Given the description of an element on the screen output the (x, y) to click on. 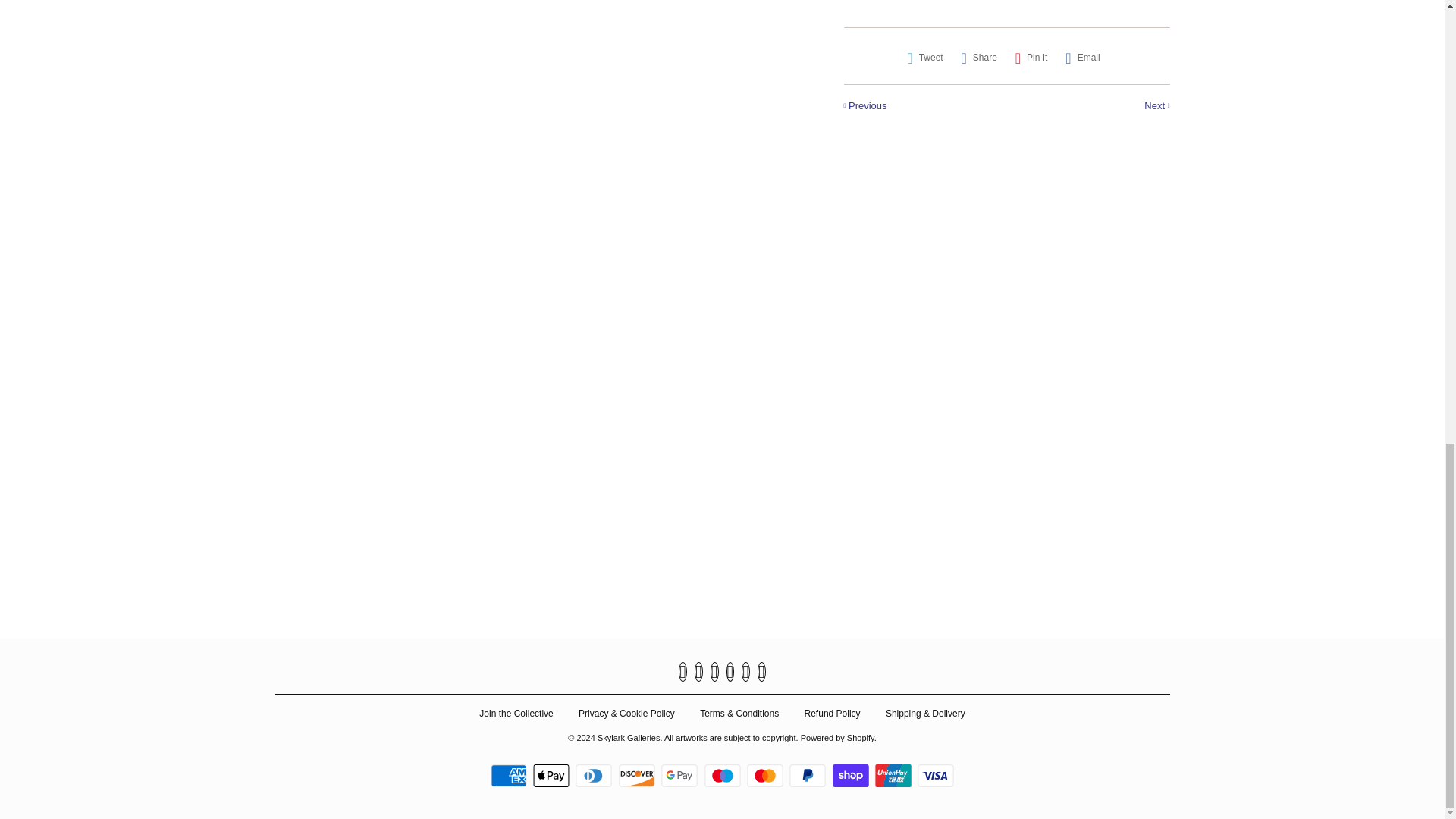
Shop Pay (852, 775)
Share this on Pinterest (1031, 57)
Discover (638, 775)
Google Pay (681, 775)
Visa (935, 775)
Mastercard (766, 775)
Union Pay (895, 775)
PayPal (809, 775)
Share this on Twitter (924, 57)
Apple Pay (552, 775)
